Given the description of an element on the screen output the (x, y) to click on. 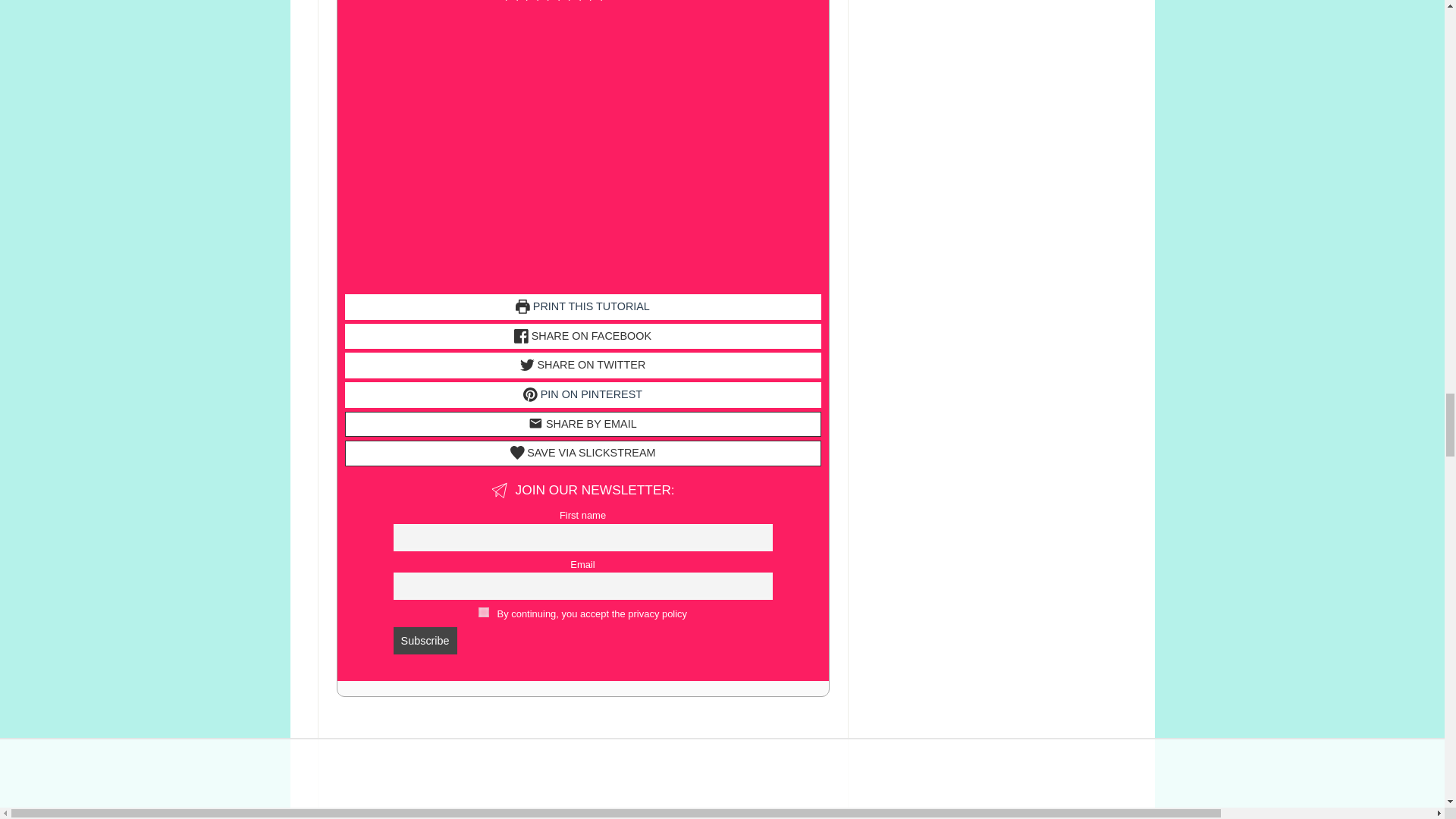
on (484, 612)
Subscribe (425, 640)
